Given the description of an element on the screen output the (x, y) to click on. 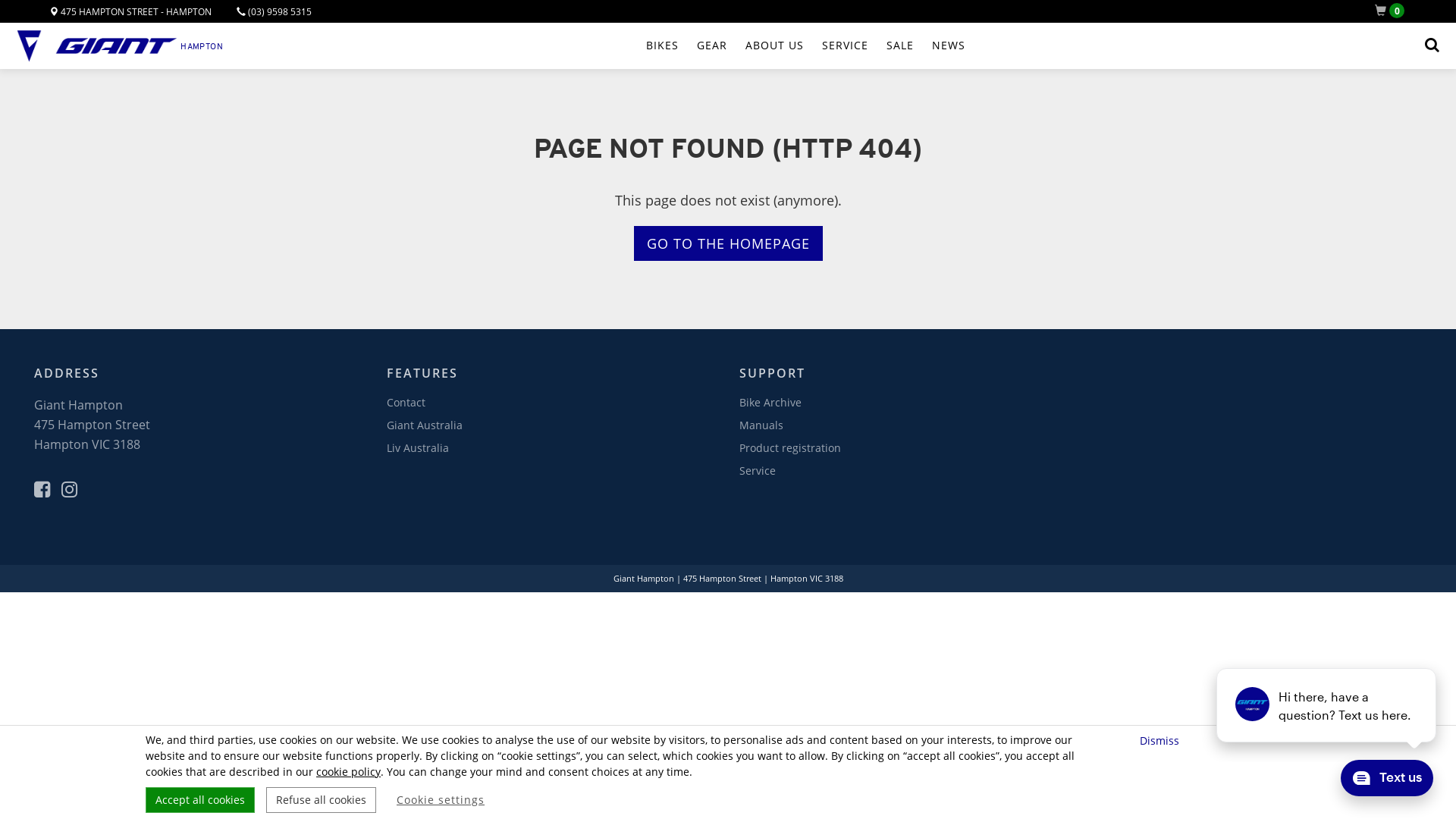
cookie policy Element type: text (348, 771)
Manuals Element type: text (761, 424)
Accept all cookies Element type: text (199, 799)
BIKES Element type: text (662, 45)
Dismiss Element type: text (1161, 740)
0 Element type: text (1392, 10)
Refuse all cookies Element type: text (321, 799)
NEWS Element type: text (948, 45)
Cookie settings Element type: text (440, 799)
Contact Element type: text (405, 402)
Liv Australia Element type: text (417, 447)
GEAR Element type: text (711, 45)
Giant Australia Element type: text (424, 424)
Service Element type: text (757, 470)
Bike Archive Element type: text (770, 402)
Product registration Element type: text (789, 447)
SALE Element type: text (899, 45)
SERVICE Element type: text (845, 45)
GO TO THE HOMEPAGE Element type: text (727, 242)
ABOUT US Element type: text (774, 45)
